Given the description of an element on the screen output the (x, y) to click on. 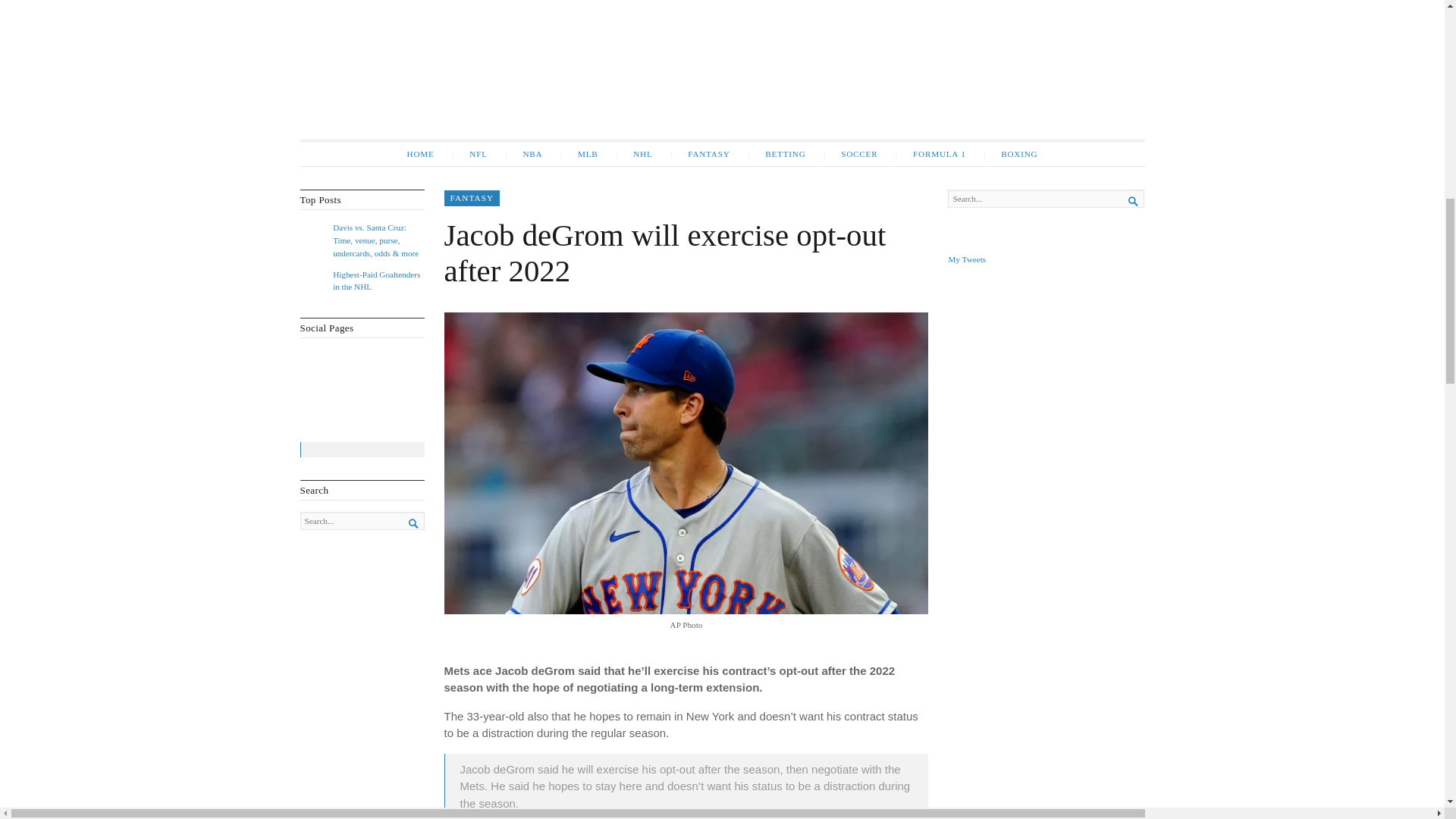
Twitter (338, 361)
NHL (633, 153)
NFL (469, 153)
SOCCER (850, 153)
BOXING (1010, 153)
Cash Flow Sports (721, 69)
FORMULA 1 (931, 153)
Highest-Paid Goaltenders in the NHL (376, 280)
MLB (579, 153)
